Given the description of an element on the screen output the (x, y) to click on. 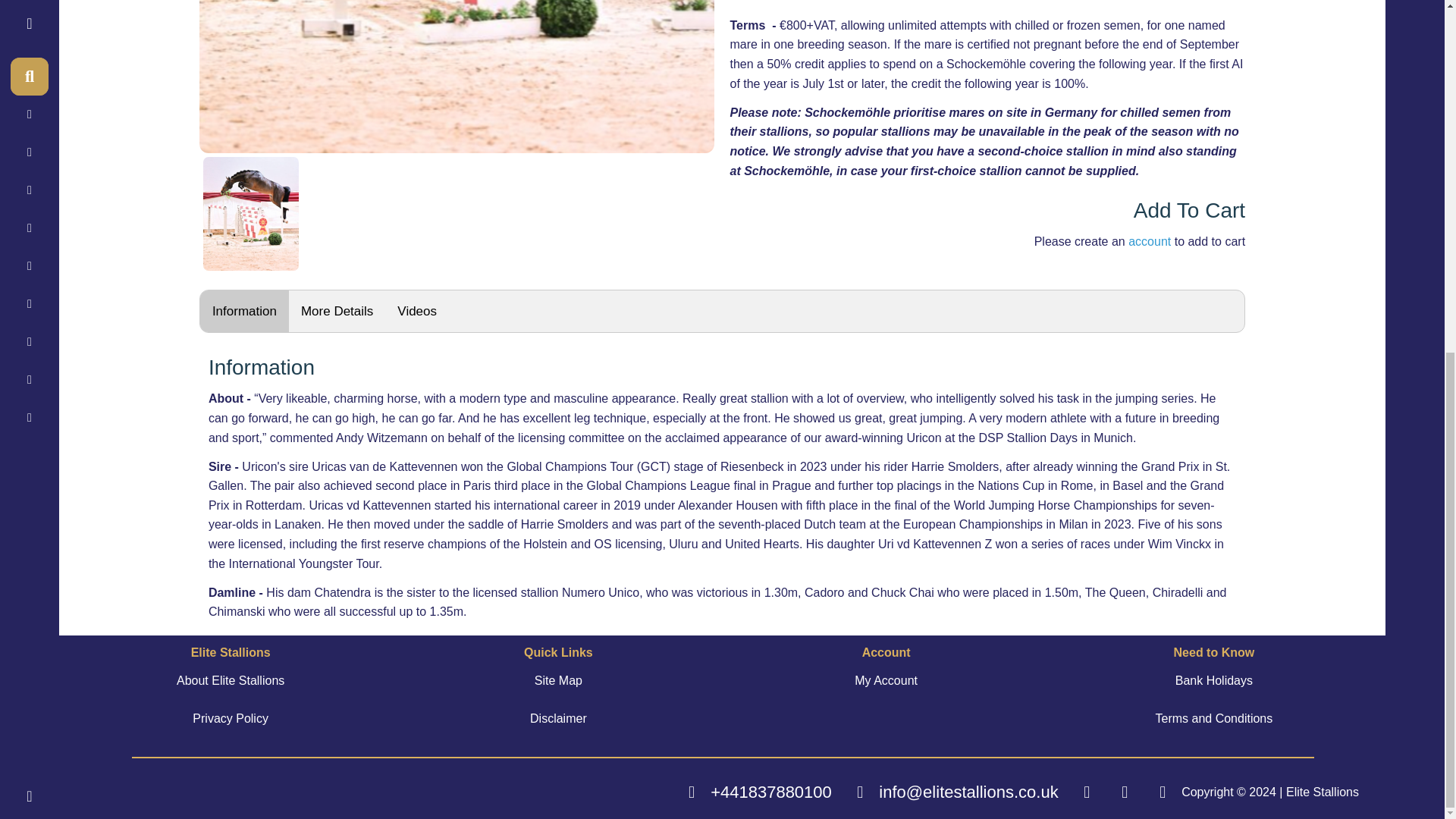
Account Link (885, 680)
Terms and Conditions (1213, 718)
Disclaimer (558, 718)
Bank Holidays (1213, 680)
More Details (336, 311)
Privacy Policy Link (229, 718)
Sitemap Link (558, 680)
Videos (416, 311)
account (1149, 241)
Disclaimer (558, 718)
Bank Holidays Link (1213, 680)
My Account (885, 680)
About Elite Stallions (230, 680)
Information (244, 311)
Terms and Conditions Link (1213, 718)
